Given the description of an element on the screen output the (x, y) to click on. 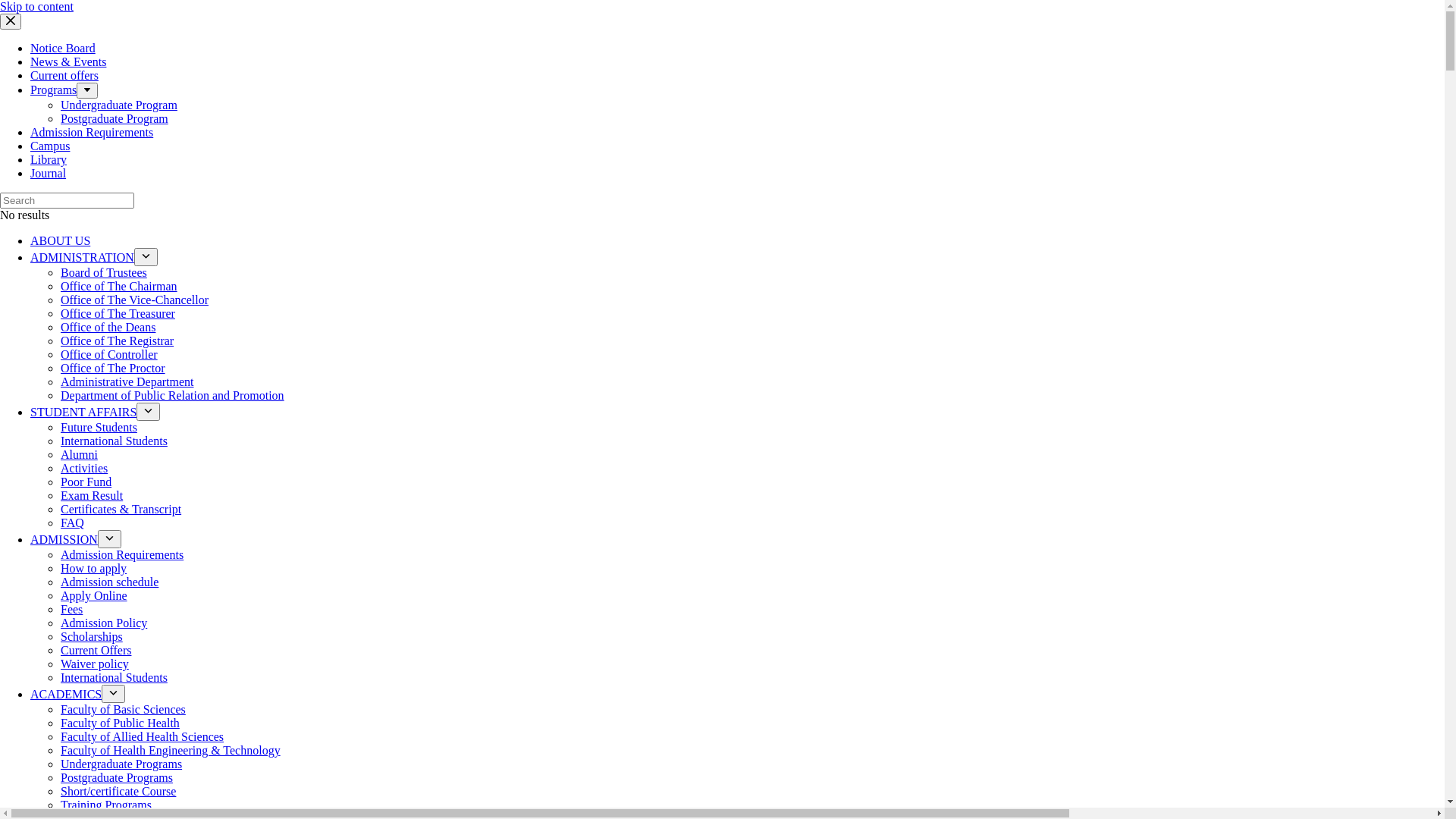
Faculty of Public Health Element type: text (119, 722)
ABOUT US Element type: text (60, 240)
Journal Element type: text (47, 172)
Office of The Treasurer Element type: text (117, 313)
Certificates & Transcript Element type: text (120, 508)
Campus Element type: text (49, 145)
Scholarships Element type: text (91, 636)
Skip to content Element type: text (15, 7)
Faculty of Allied Health Sciences Element type: text (141, 736)
Future Students Element type: text (98, 426)
STUDENT AFFAIRS Element type: text (83, 411)
FAQ Element type: text (72, 522)
Short/certificate Course Element type: text (117, 790)
Administrative Department Element type: text (127, 381)
Search for... Element type: hover (67, 200)
Office of Controller Element type: text (108, 354)
Apply Online Element type: text (93, 595)
Admission Policy Element type: text (103, 622)
How to apply Element type: text (93, 567)
Office of The Proctor Element type: text (112, 367)
Poor Fund Element type: text (85, 481)
Activities Element type: text (83, 467)
Library Element type: text (48, 159)
Current Offers Element type: text (95, 649)
Postgraduate Programs Element type: text (116, 777)
Office of the Deans Element type: text (107, 326)
International Students Element type: text (113, 440)
Admission schedule Element type: text (109, 581)
Faculty of Health Engineering & Technology Element type: text (170, 749)
Undergraduate Programs Element type: text (121, 763)
Waiver policy Element type: text (94, 663)
Faculty of Basic Sciences Element type: text (122, 708)
Admission Requirements Element type: text (121, 554)
Fees Element type: text (71, 608)
Training Programs Element type: text (105, 804)
ACADEMICS Element type: text (65, 693)
Postgraduate Program Element type: text (53, 6)
Alumni Element type: text (78, 454)
Office of The Chairman Element type: text (118, 285)
International Students Element type: text (113, 677)
ADMINISTRATION Element type: text (82, 257)
Office of The Registrar Element type: text (116, 340)
Department of Public Relation and Promotion Element type: text (172, 395)
Exam Result Element type: text (91, 495)
Office of The Vice-Chancellor Element type: text (134, 299)
ADMISSION Element type: text (63, 539)
Admission Requirements Element type: text (91, 131)
Board of Trustees Element type: text (103, 272)
